Given the description of an element on the screen output the (x, y) to click on. 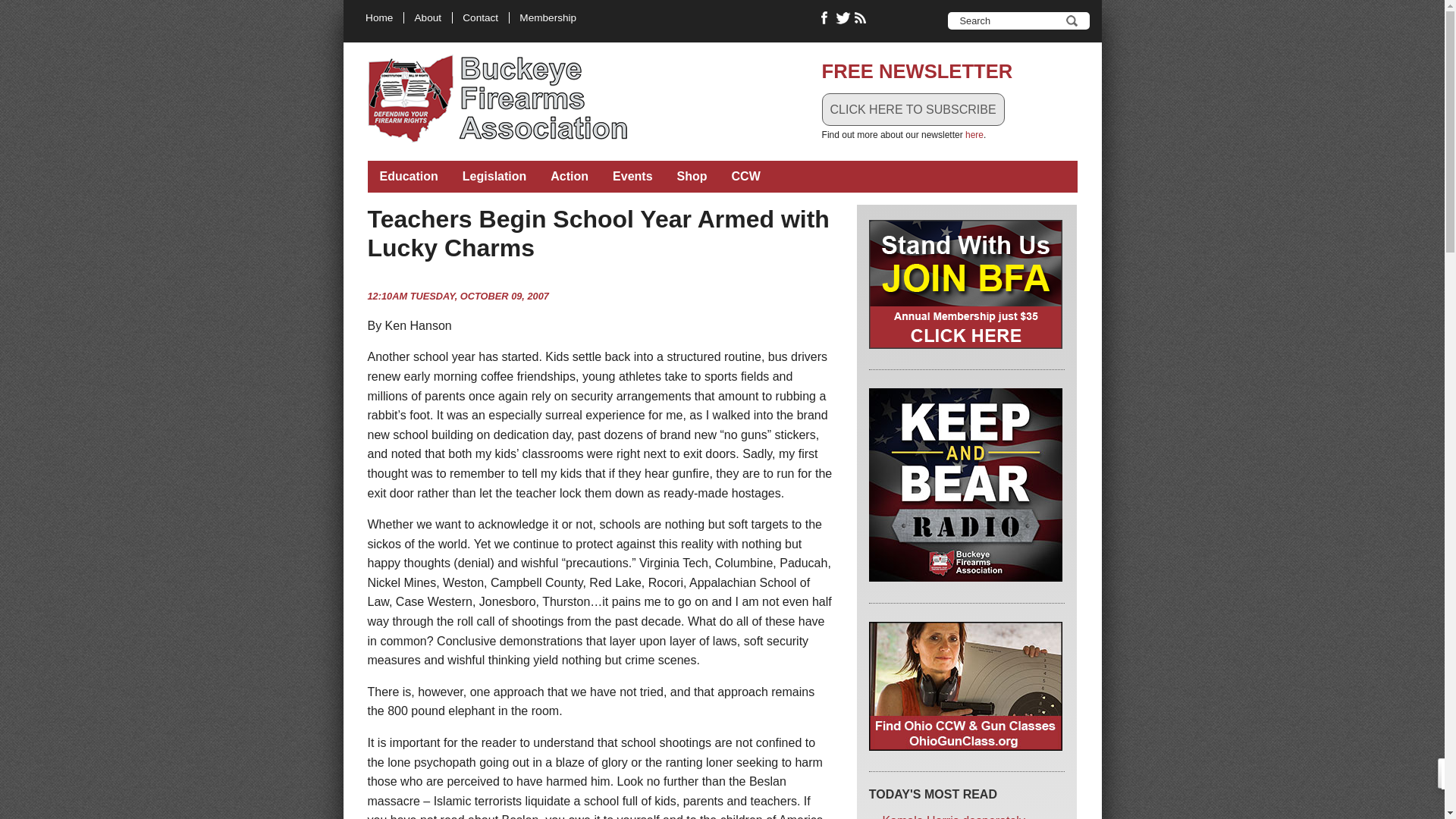
Enter the terms you wish to search for. (1008, 20)
Search (1071, 20)
Action (568, 176)
Membership (547, 17)
here (974, 134)
FOLLOW BUCKEYE FIREARMS ON TWITTER (842, 18)
LIKE BUCKEYE FIREARMS ON FACEBOOK (824, 18)
Search (1071, 20)
CCW (746, 176)
Education (407, 176)
